Given the description of an element on the screen output the (x, y) to click on. 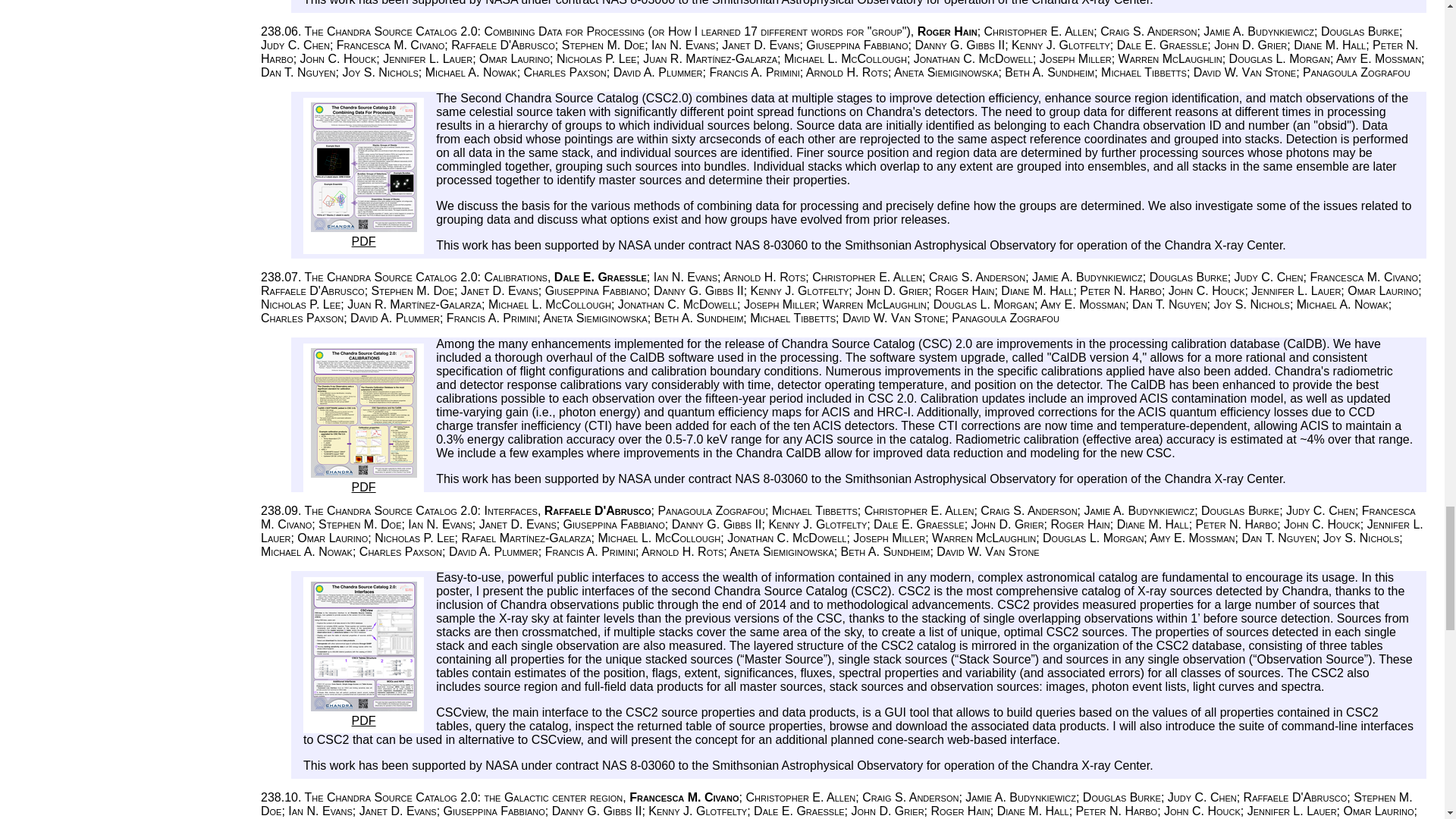
PDF (363, 479)
PDF (363, 714)
PDF (363, 234)
